Given the description of an element on the screen output the (x, y) to click on. 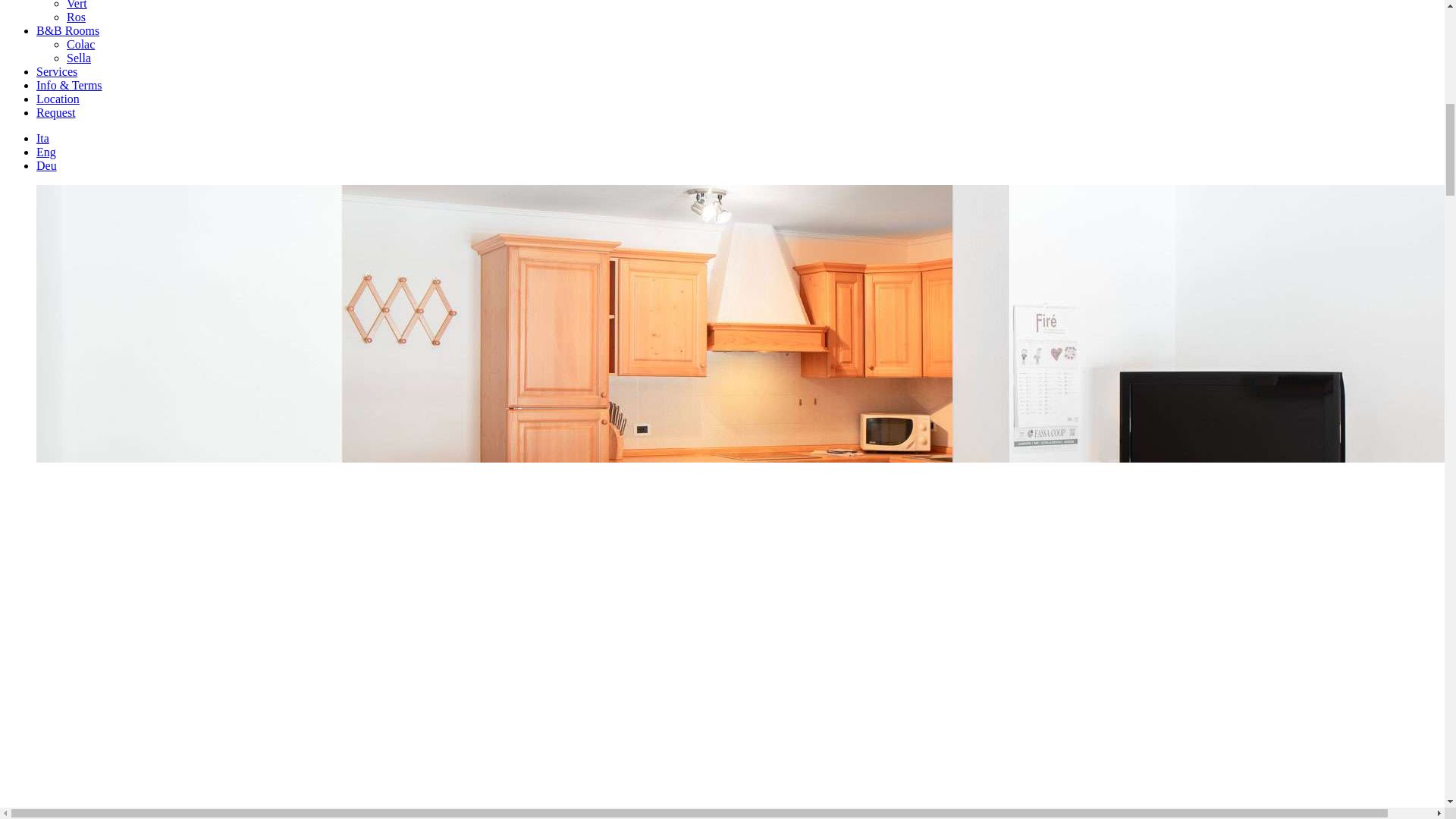
Colac (80, 43)
Deu (46, 164)
Vert (76, 4)
Sella (78, 57)
Eng (46, 151)
Ros (75, 16)
Request (55, 112)
Ita (42, 137)
Services (56, 71)
Location (58, 98)
